Given the description of an element on the screen output the (x, y) to click on. 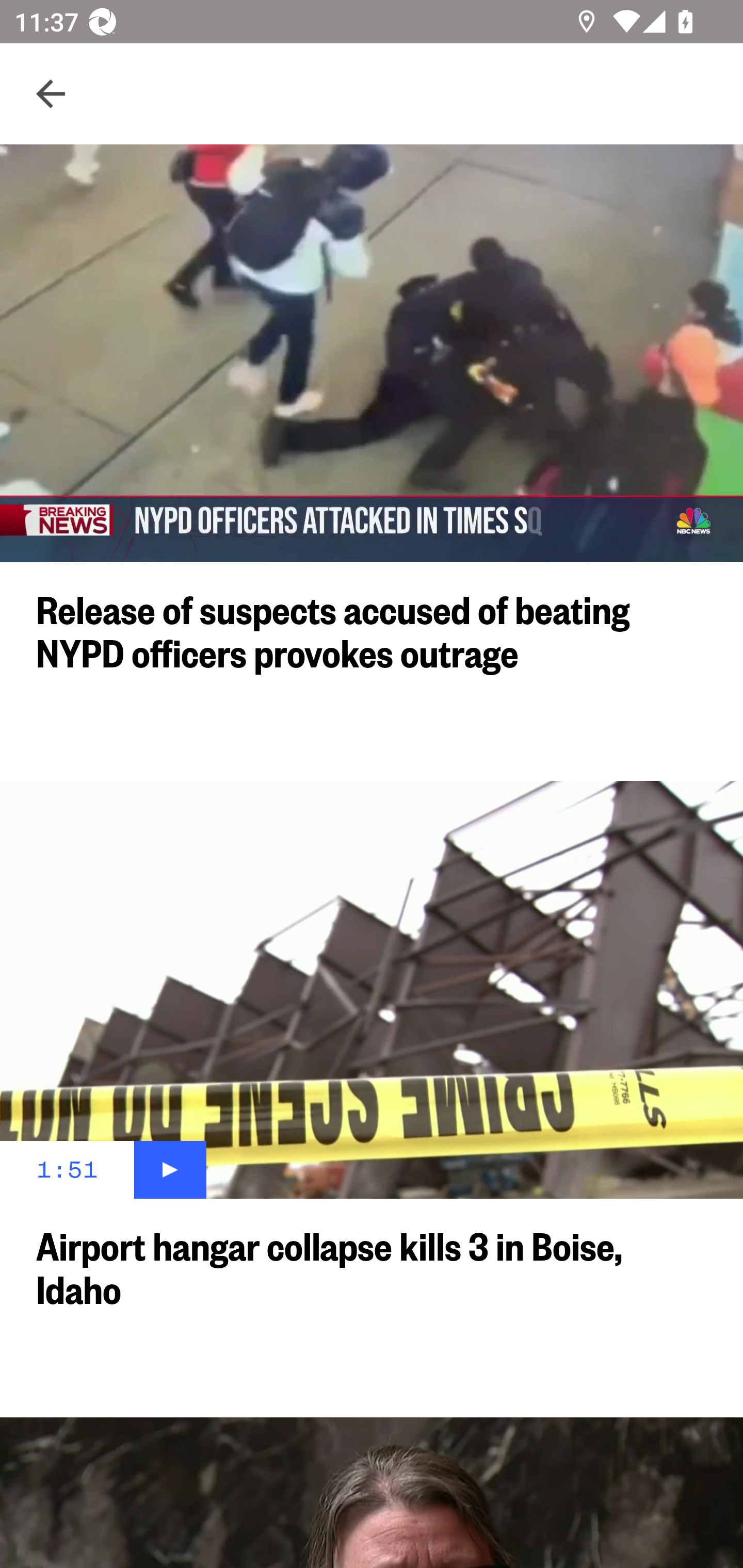
Navigate up (50, 93)
